Given the description of an element on the screen output the (x, y) to click on. 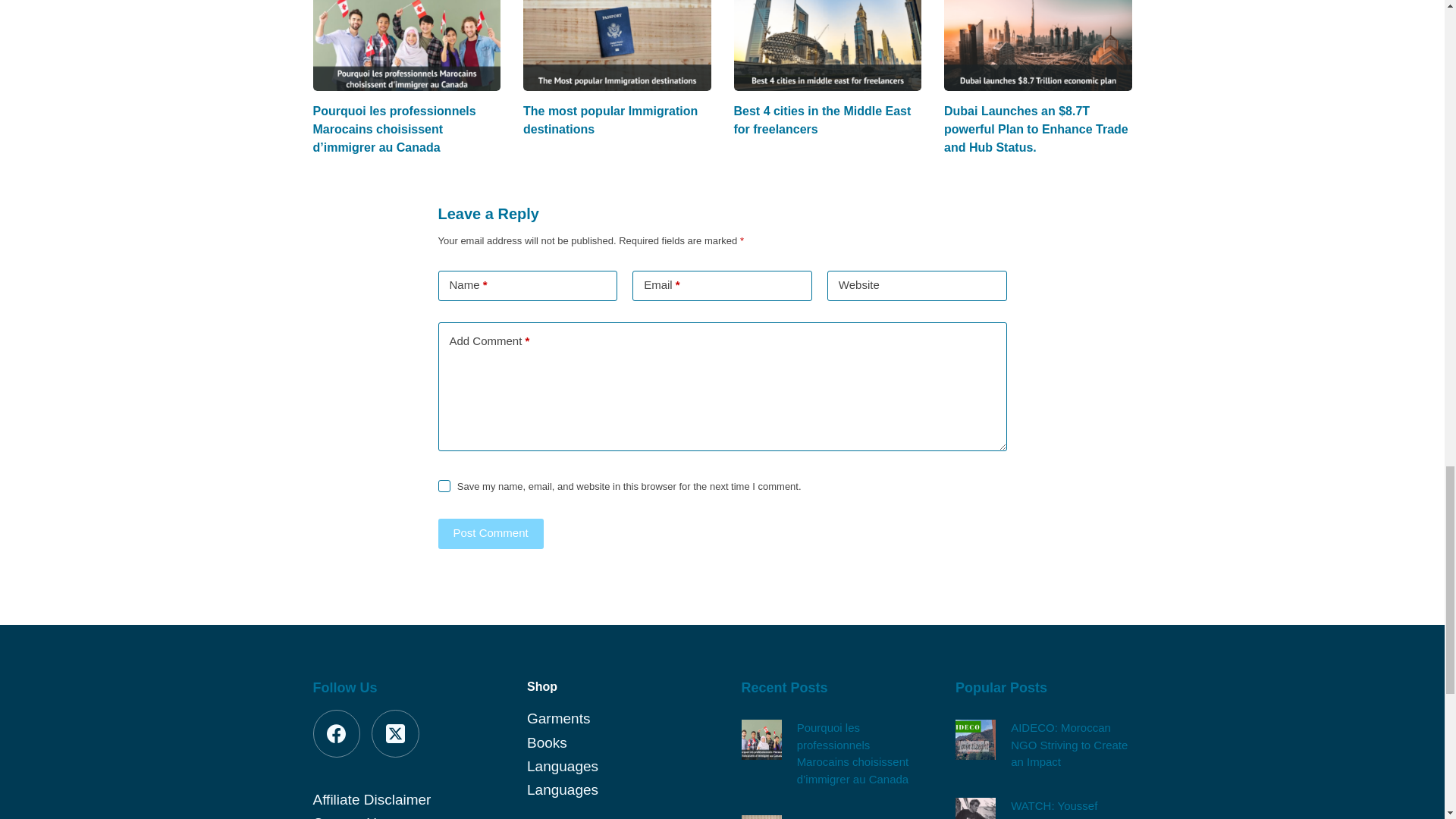
yes (443, 485)
